Given the description of an element on the screen output the (x, y) to click on. 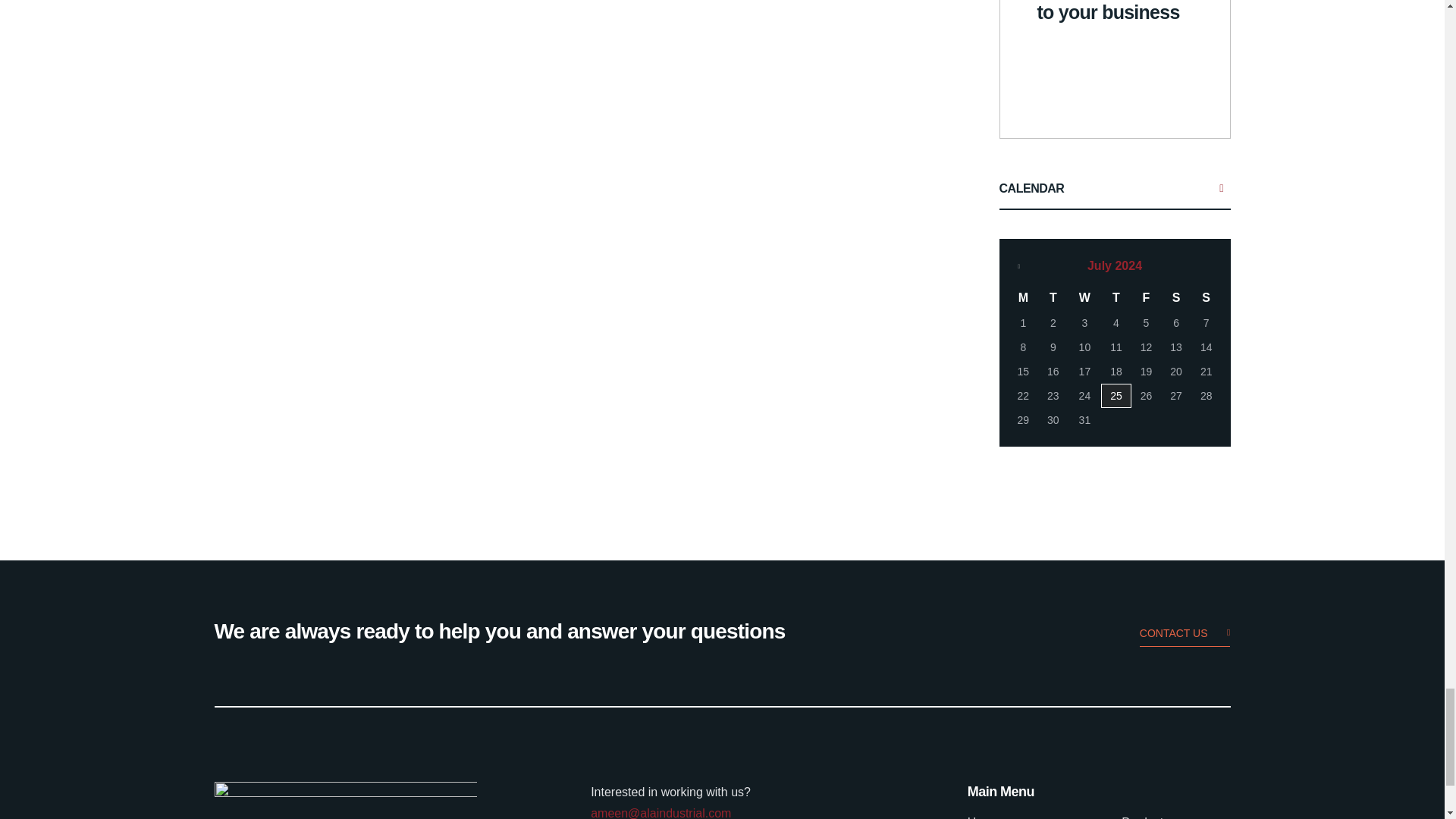
Saturday (1175, 298)
Wednesday (1084, 298)
Thursday (1115, 298)
Friday (1146, 298)
Sunday (1206, 298)
Tuesday (1053, 298)
Monday (1024, 298)
